Given the description of an element on the screen output the (x, y) to click on. 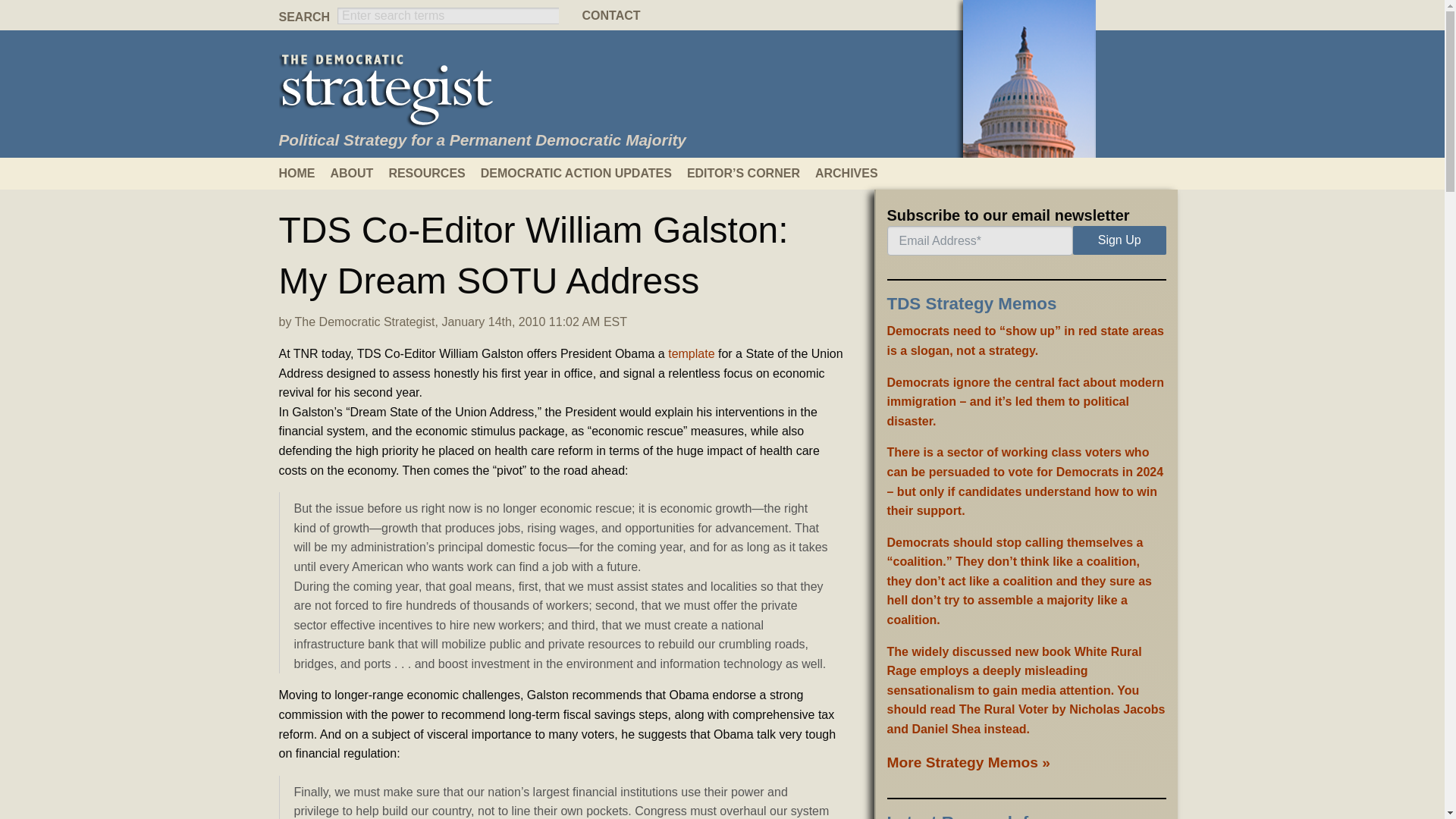
HOME (304, 173)
Sign Up (1119, 240)
ABOUT (359, 173)
RESOURCES (434, 173)
ARCHIVES (854, 173)
The Democratic Strategist (365, 321)
CONTACT (720, 15)
template (689, 353)
DEMOCRATIC ACTION UPDATES (583, 173)
Posts by The Democratic Strategist (365, 321)
